Given the description of an element on the screen output the (x, y) to click on. 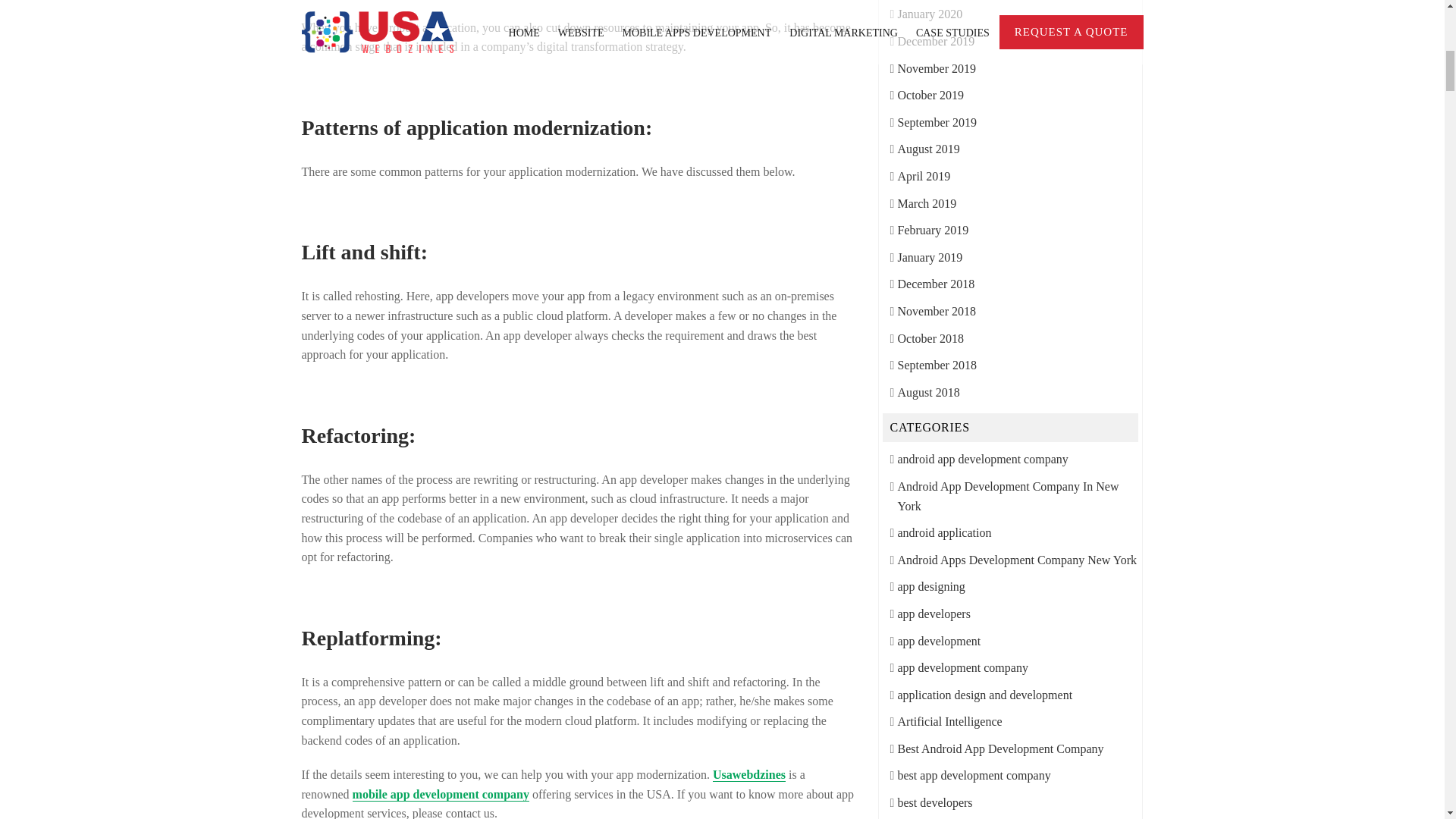
mobile app development company (440, 793)
Usawebdzines (749, 774)
